Given the description of an element on the screen output the (x, y) to click on. 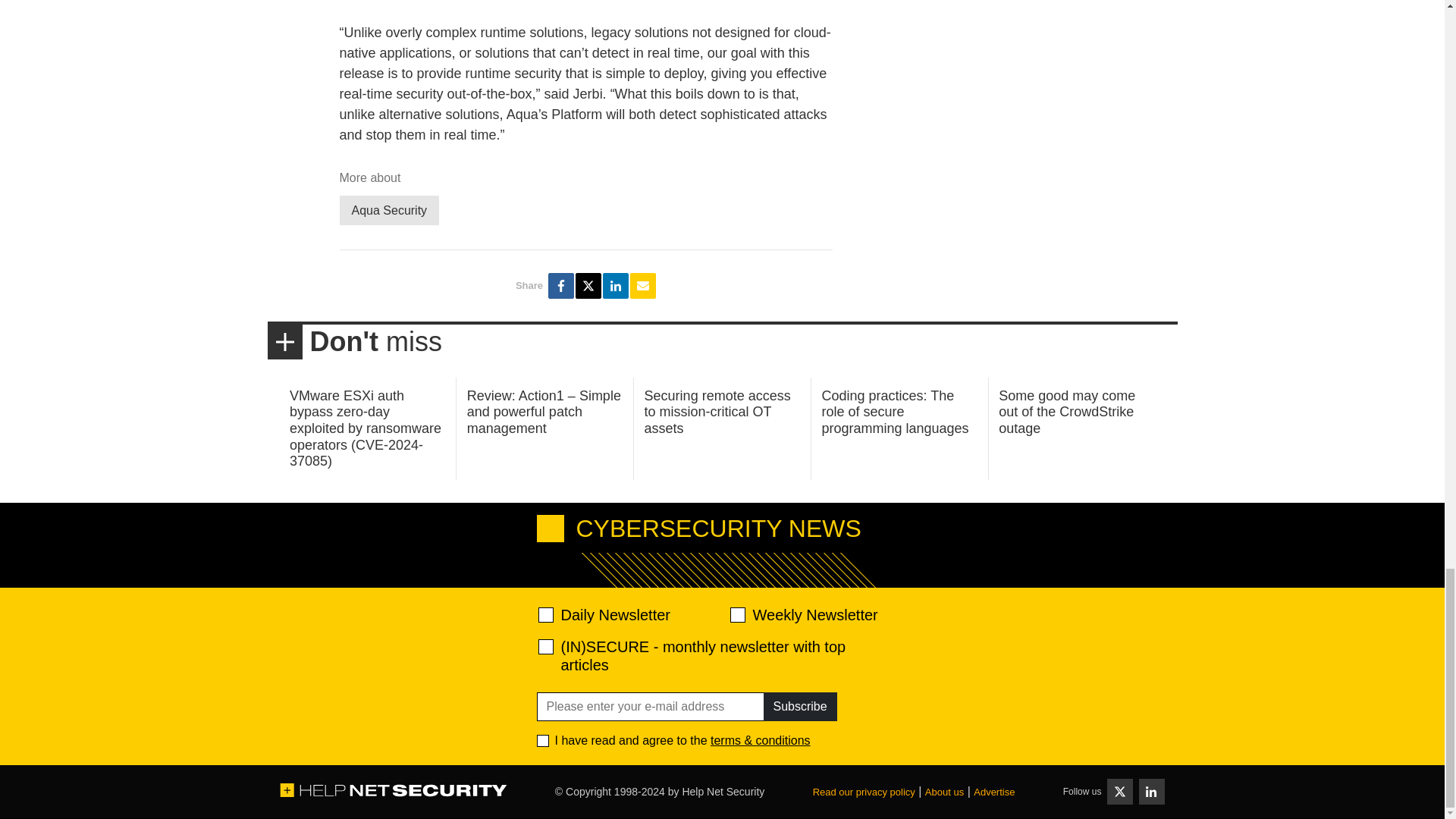
Securing remote access to mission-critical OT assets (717, 411)
Aqua Security (389, 210)
Aqua Security (389, 210)
d2d471aafa (736, 614)
1 (542, 740)
28abe5d9ef (545, 646)
520ac2f639 (545, 614)
Coding practices: The role of secure programming languages (894, 411)
